Given the description of an element on the screen output the (x, y) to click on. 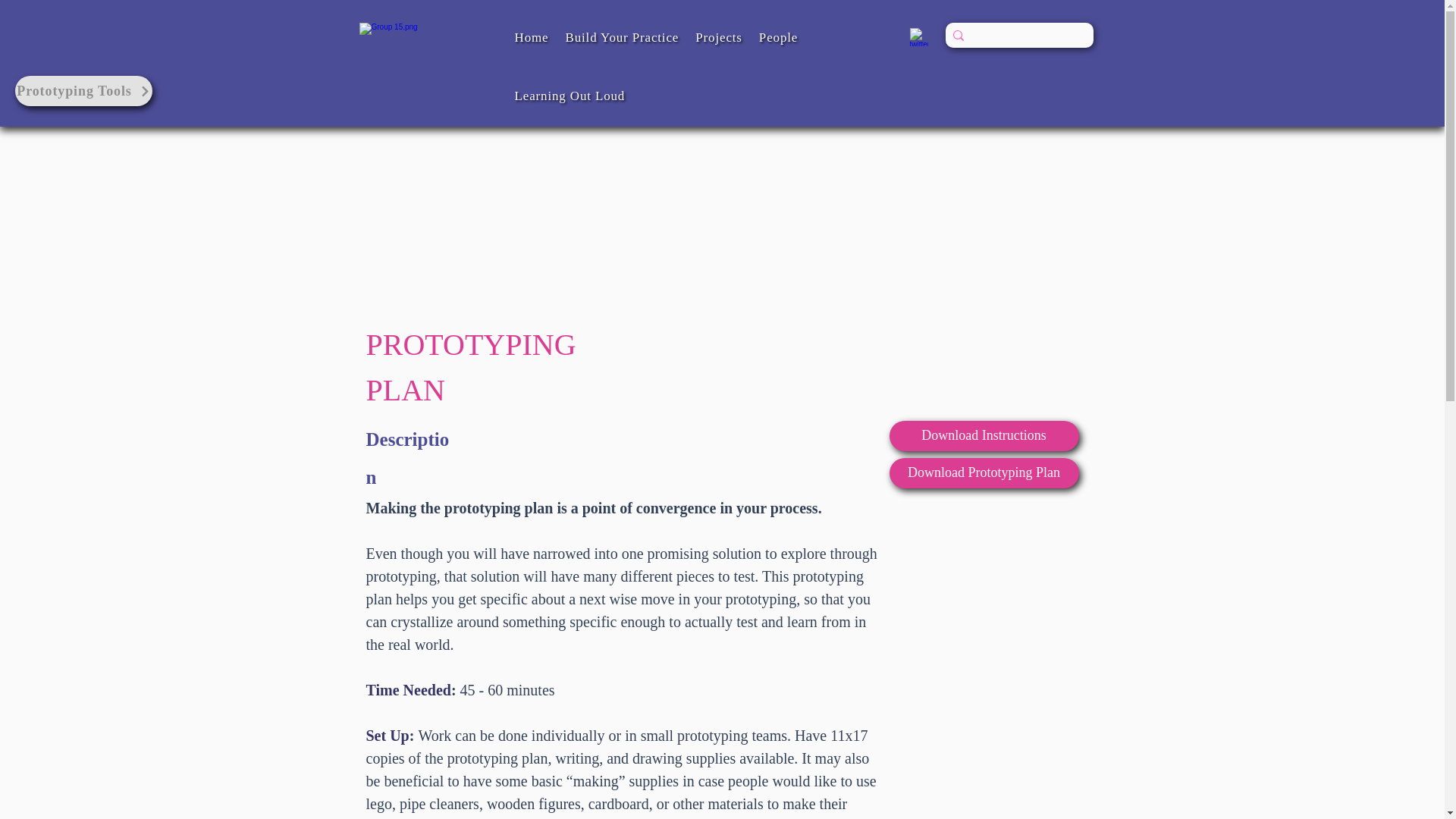
Build Your Practice (621, 37)
Learning Out Loud (568, 95)
Prototyping Tools (83, 91)
Download Prototyping Plan (983, 472)
Download Instructions (983, 435)
